Given the description of an element on the screen output the (x, y) to click on. 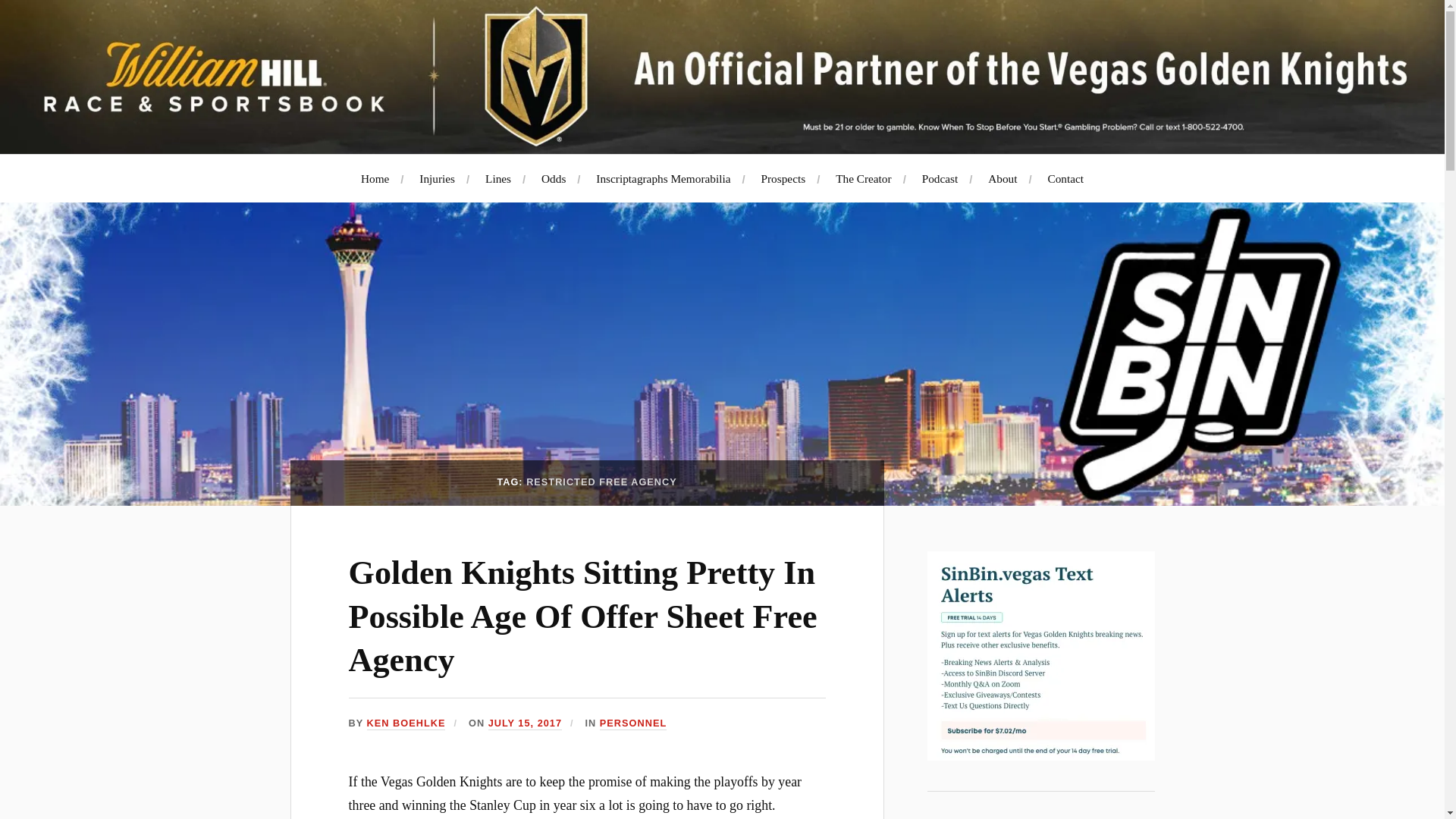
Lines (497, 178)
Podcast (939, 178)
The Creator (863, 178)
Odds (553, 178)
Contact (1064, 178)
Inscriptagraphs Memorabilia (662, 178)
KEN BOEHLKE (405, 723)
Injuries (436, 178)
About (1002, 178)
PERSONNEL (632, 723)
Posts by Ken Boehlke (405, 723)
JULY 15, 2017 (524, 723)
Prospects (783, 178)
Home (374, 178)
